Given the description of an element on the screen output the (x, y) to click on. 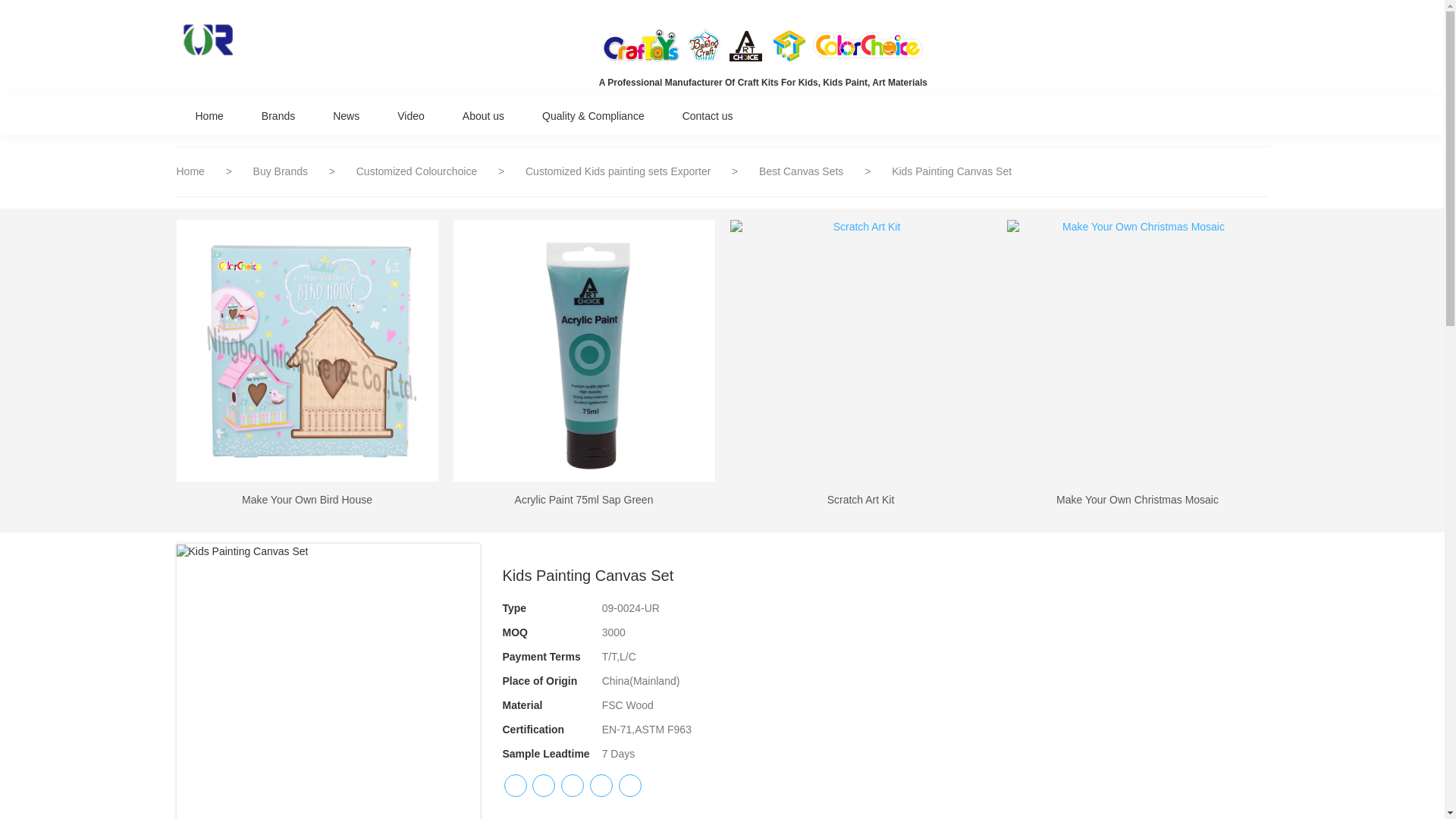
Buy Brands (282, 171)
About us (483, 115)
Home (209, 115)
Customized Colourchoice (418, 171)
Contact us (707, 115)
Home (189, 171)
Brands (278, 115)
Best Canvas Sets (801, 171)
Customized Kids painting sets Exporter (619, 171)
Video (411, 115)
